Given the description of an element on the screen output the (x, y) to click on. 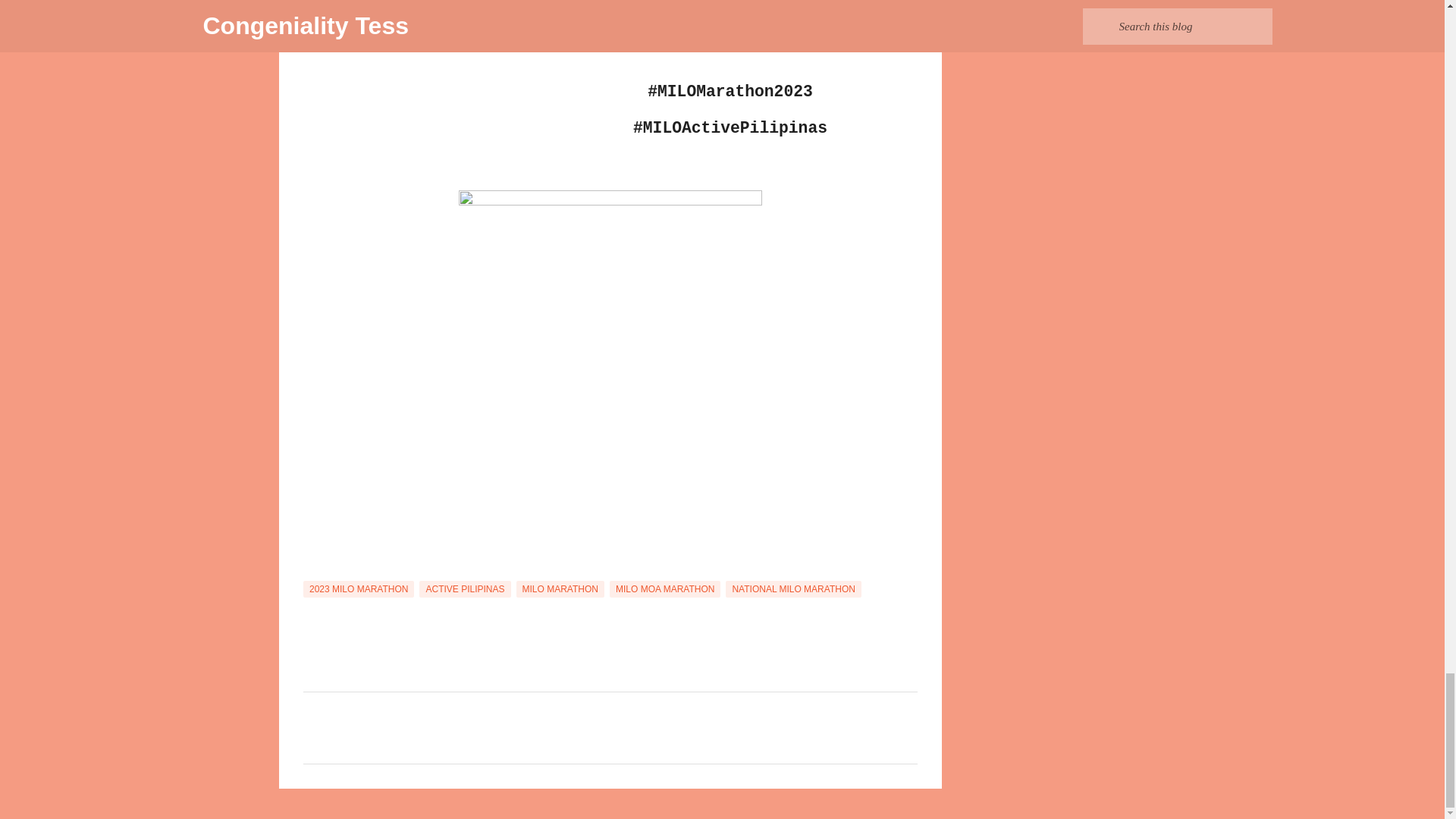
MILO MOA MARATHON (665, 588)
NATIONAL MILO MARATHON (792, 588)
MILO MARATHON (560, 588)
ACTIVE PILIPINAS (465, 588)
2023 MILO MARATHON (357, 588)
